Given the description of an element on the screen output the (x, y) to click on. 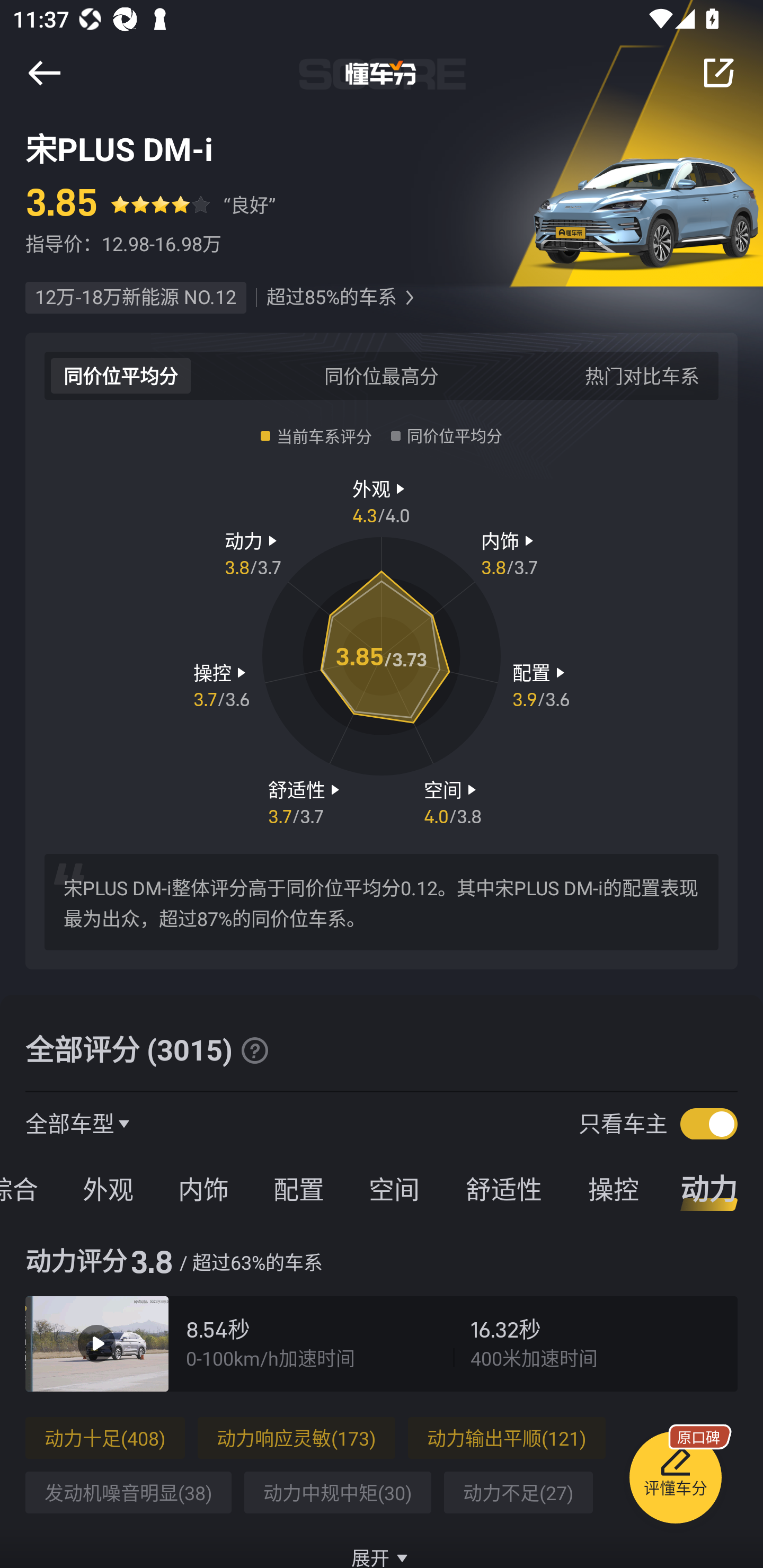
 (44, 72)
 (718, 72)
超过85%的车系 (331, 297)
 (408, 297)
同价位平均分 (120, 375)
同价位最高分 (381, 375)
热门对比车系 (641, 375)
外观  4.3 / 4.0 (381, 500)
动力  3.8 / 3.7 (252, 552)
内饰  3.8 / 3.7 (509, 552)
操控  3.7 / 3.6 (221, 685)
配置  3.9 / 3.6 (540, 685)
舒适性  3.7 / 3.7 (305, 801)
空间  4.0 / 3.8 (452, 801)
 (254, 1050)
全部车型 (69, 1123)
外观 (107, 1188)
内饰 (203, 1188)
配置 (298, 1188)
空间 (393, 1188)
舒适性 (503, 1188)
操控 (613, 1188)
动力十足(408) (104, 1437)
动力响应灵敏(173) (296, 1437)
动力输出平顺(121) (506, 1437)
 评懂车分 原口碑 (675, 1480)
发动机噪音明显(38) (128, 1492)
动力中规中矩(30) (337, 1492)
动力不足(27) (518, 1492)
展开  (381, 1546)
